Given the description of an element on the screen output the (x, y) to click on. 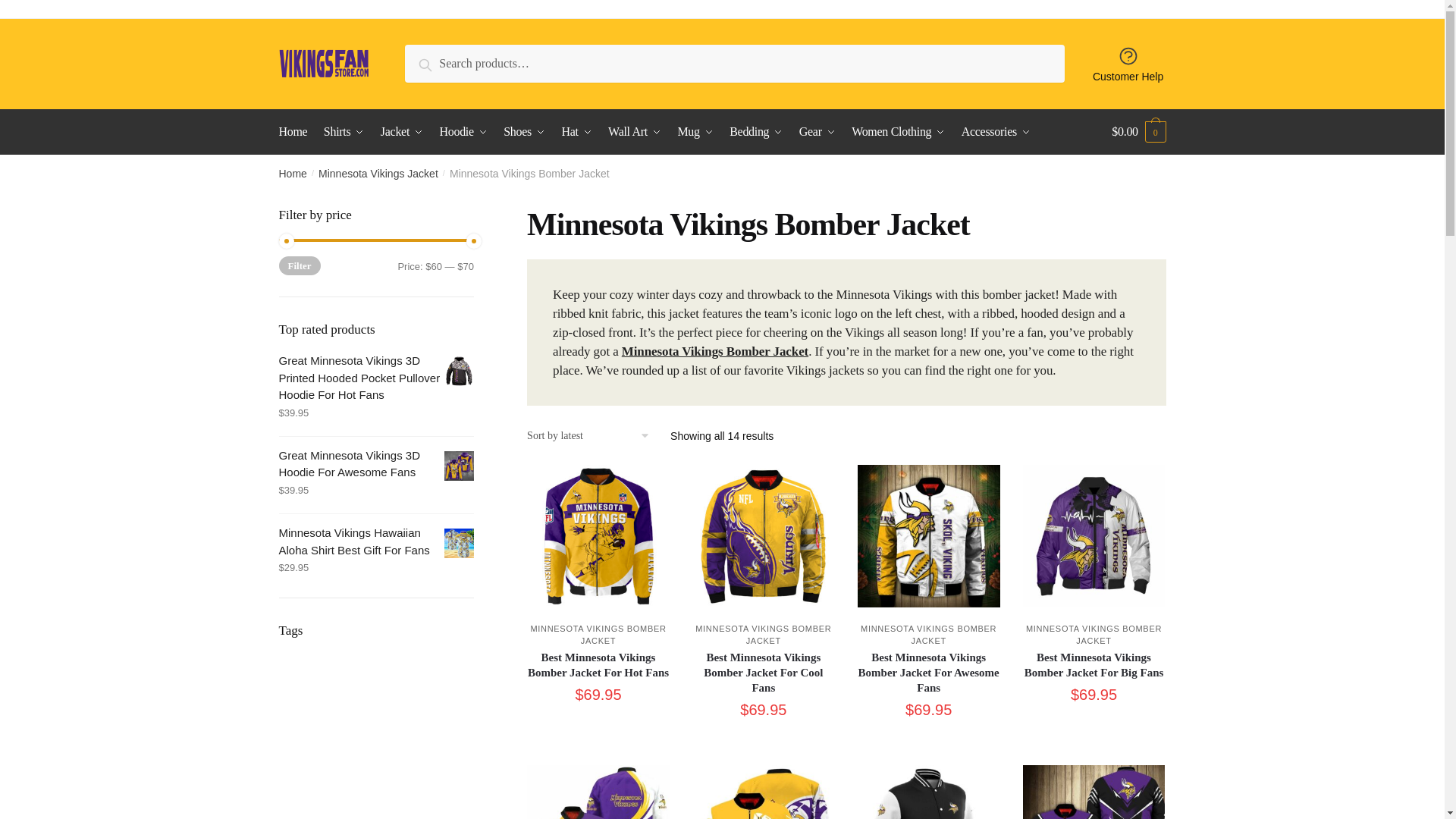
Hoodie (463, 131)
Jacket (401, 131)
Hat (575, 131)
Wall Art (634, 131)
Shoes (524, 131)
Shirts (344, 131)
Customer Help (1128, 63)
View your shopping cart (1139, 131)
Search (439, 62)
